Given the description of an element on the screen output the (x, y) to click on. 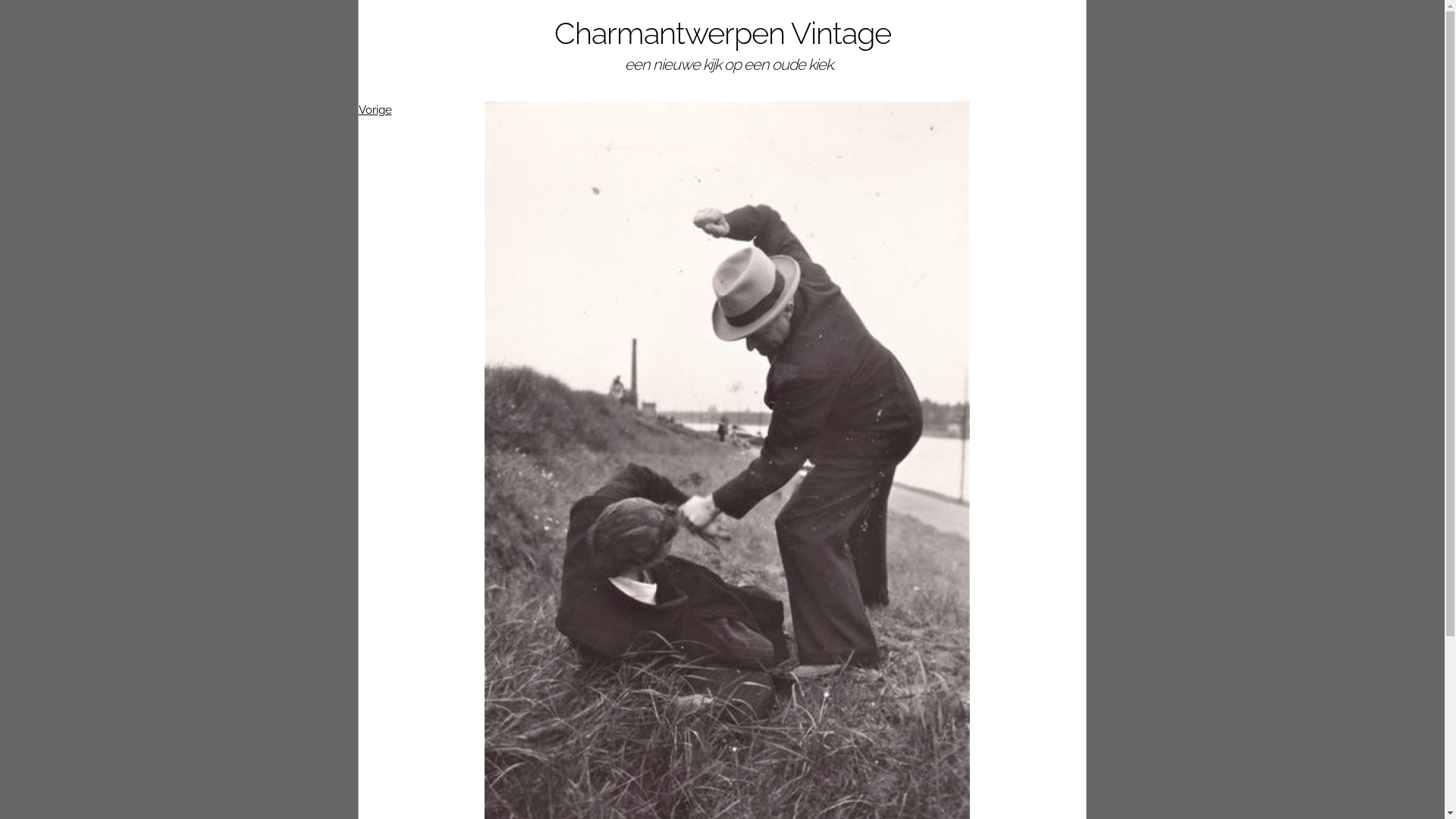
Vorige Element type: text (374, 109)
Charmantwerpen Vintage Element type: text (721, 32)
